Given the description of an element on the screen output the (x, y) to click on. 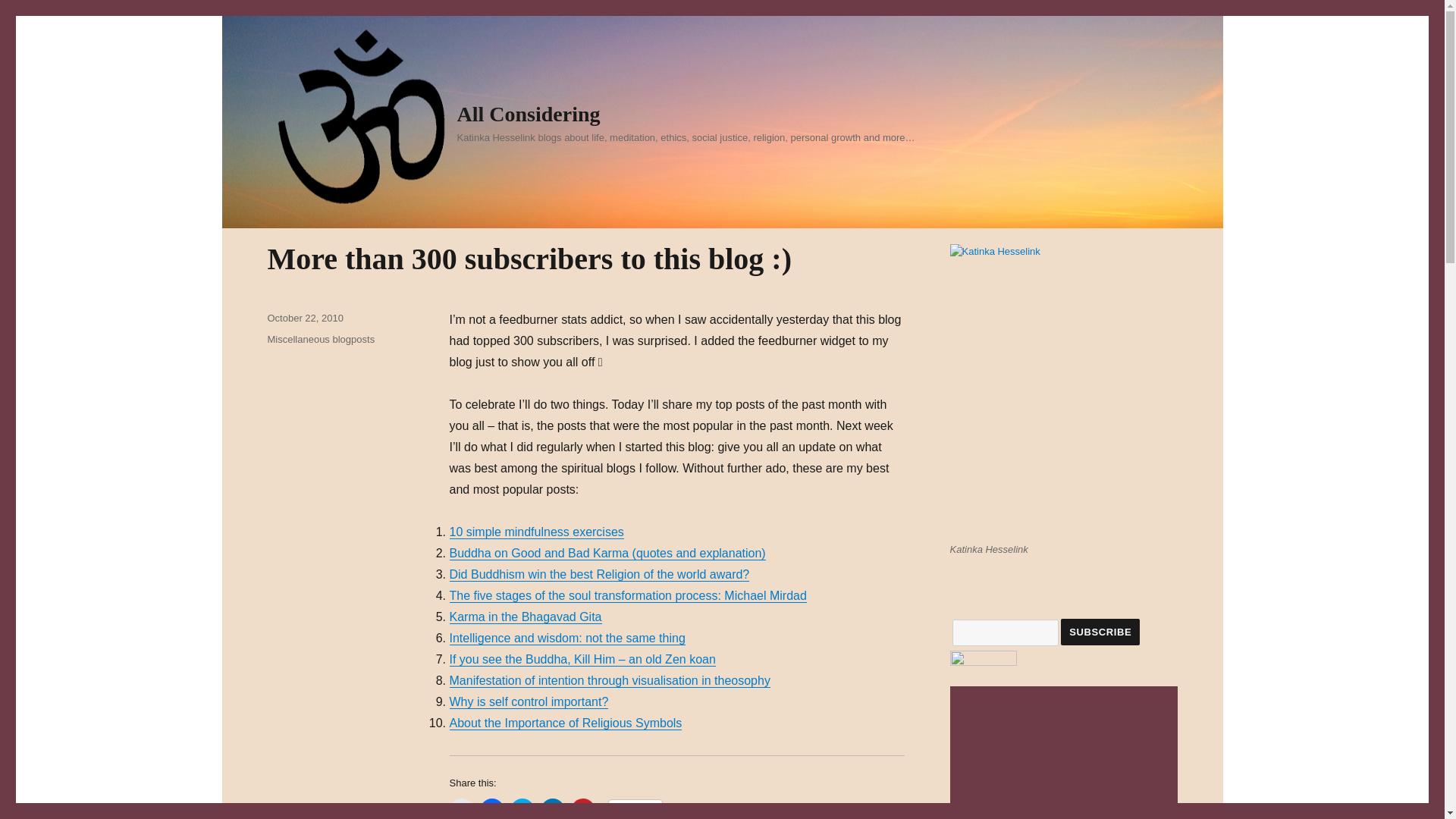
Click to share on LinkedIn (552, 808)
Subscribe (1100, 632)
Click to share on Facebook (491, 808)
October 22, 2010 (304, 317)
10 simple mindfulness exercises (535, 531)
More (635, 809)
Why is self control important? (528, 701)
All Considering (528, 114)
Karma in the Bhagavad Gita (524, 616)
Click to share on Pinterest (582, 808)
